Given the description of an element on the screen output the (x, y) to click on. 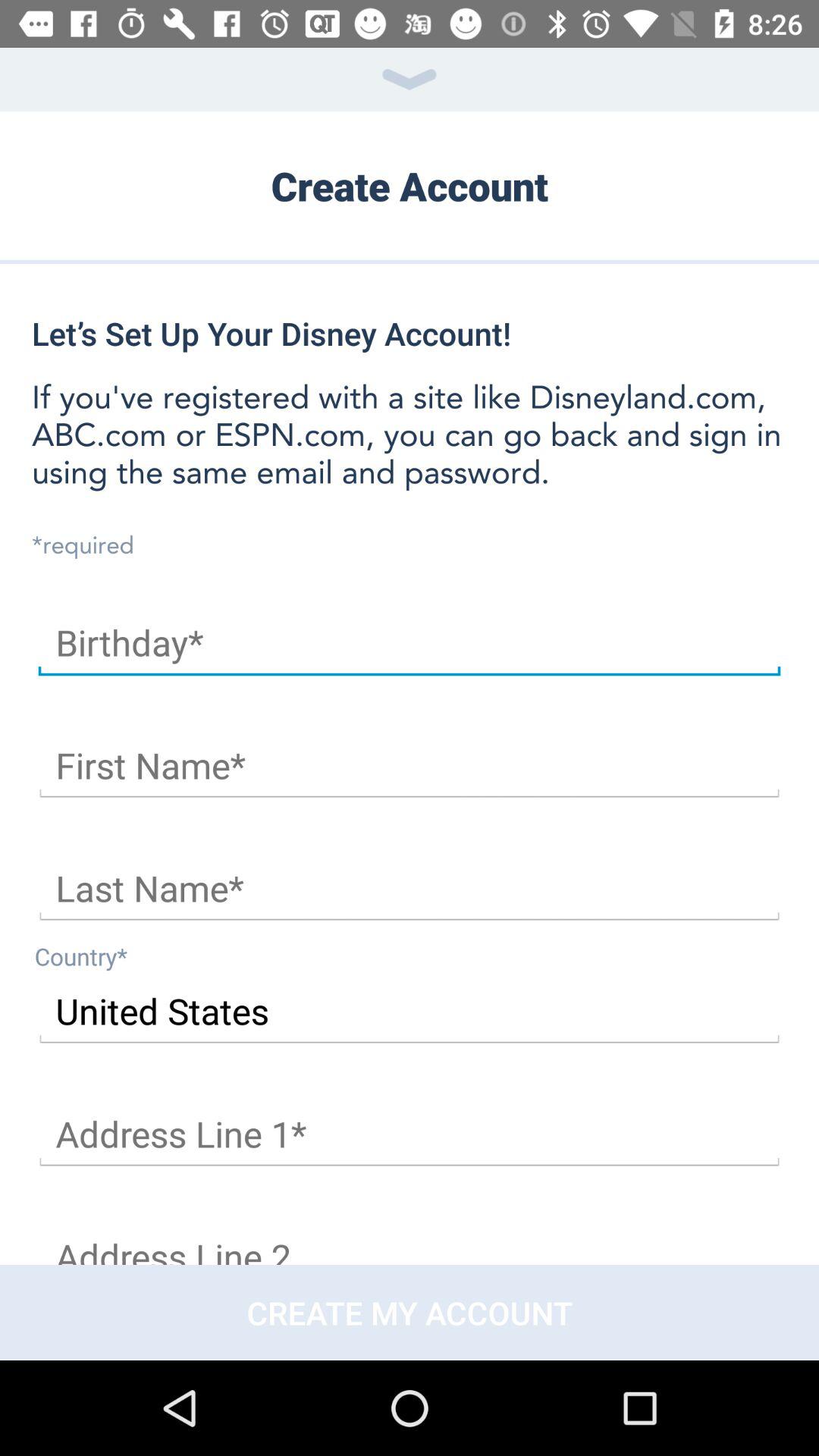
address line 2 entry field (409, 1241)
